Given the description of an element on the screen output the (x, y) to click on. 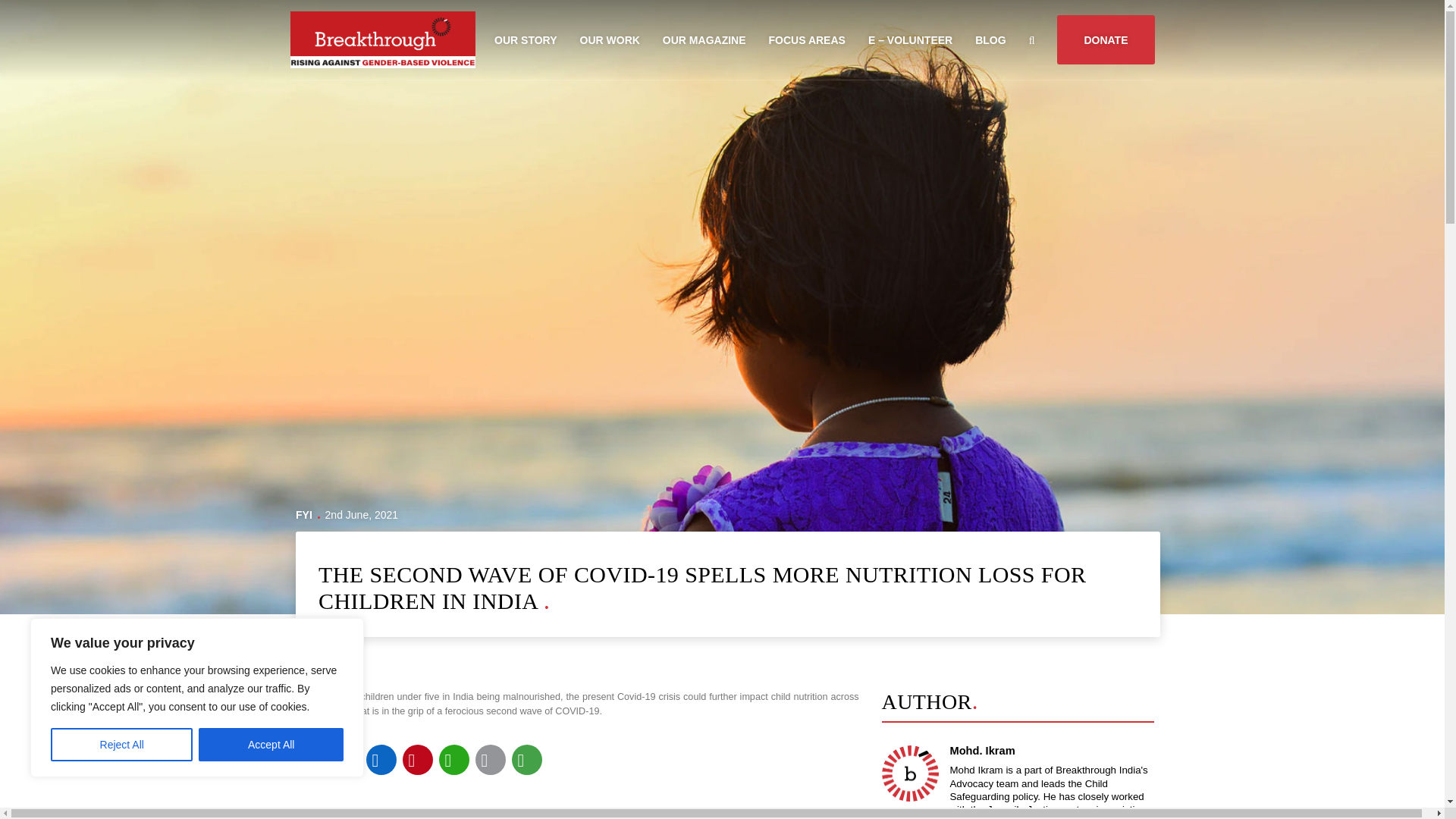
Our Magazine (703, 39)
FOCUS AREAS (806, 39)
FYI (304, 514)
Accept All (270, 744)
Focus Areas (806, 39)
DONATE (1105, 39)
Reject All (121, 744)
OUR MAGAZINE (703, 39)
